Given the description of an element on the screen output the (x, y) to click on. 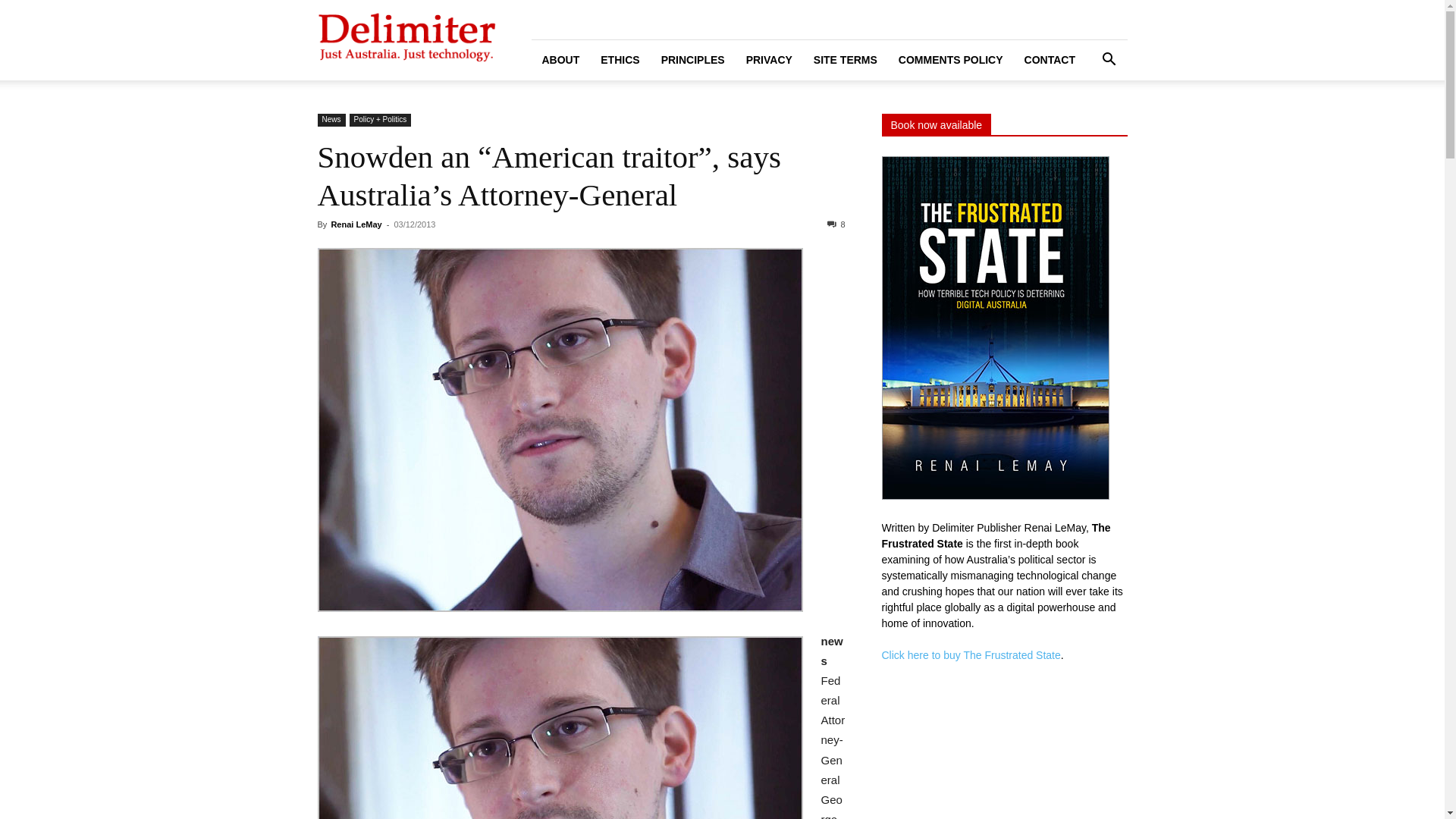
Search Element type: text (1084, 122)
snowden Element type: hover (559, 429)
CONTACT Element type: text (1049, 60)
COMMENTS POLICY Element type: text (950, 60)
Just Australia. Just technology. Element type: hover (406, 40)
8 Element type: text (835, 224)
ETHICS Element type: text (619, 60)
Click here to buy The Frustrated State Element type: text (970, 655)
Policy + Politics Element type: text (380, 119)
PRIVACY Element type: text (769, 60)
PRINCIPLES Element type: text (692, 60)
ABOUT Element type: text (559, 60)
News Element type: text (330, 119)
Renai LeMay Element type: text (355, 224)
SITE TERMS Element type: text (845, 60)
